Given the description of an element on the screen output the (x, y) to click on. 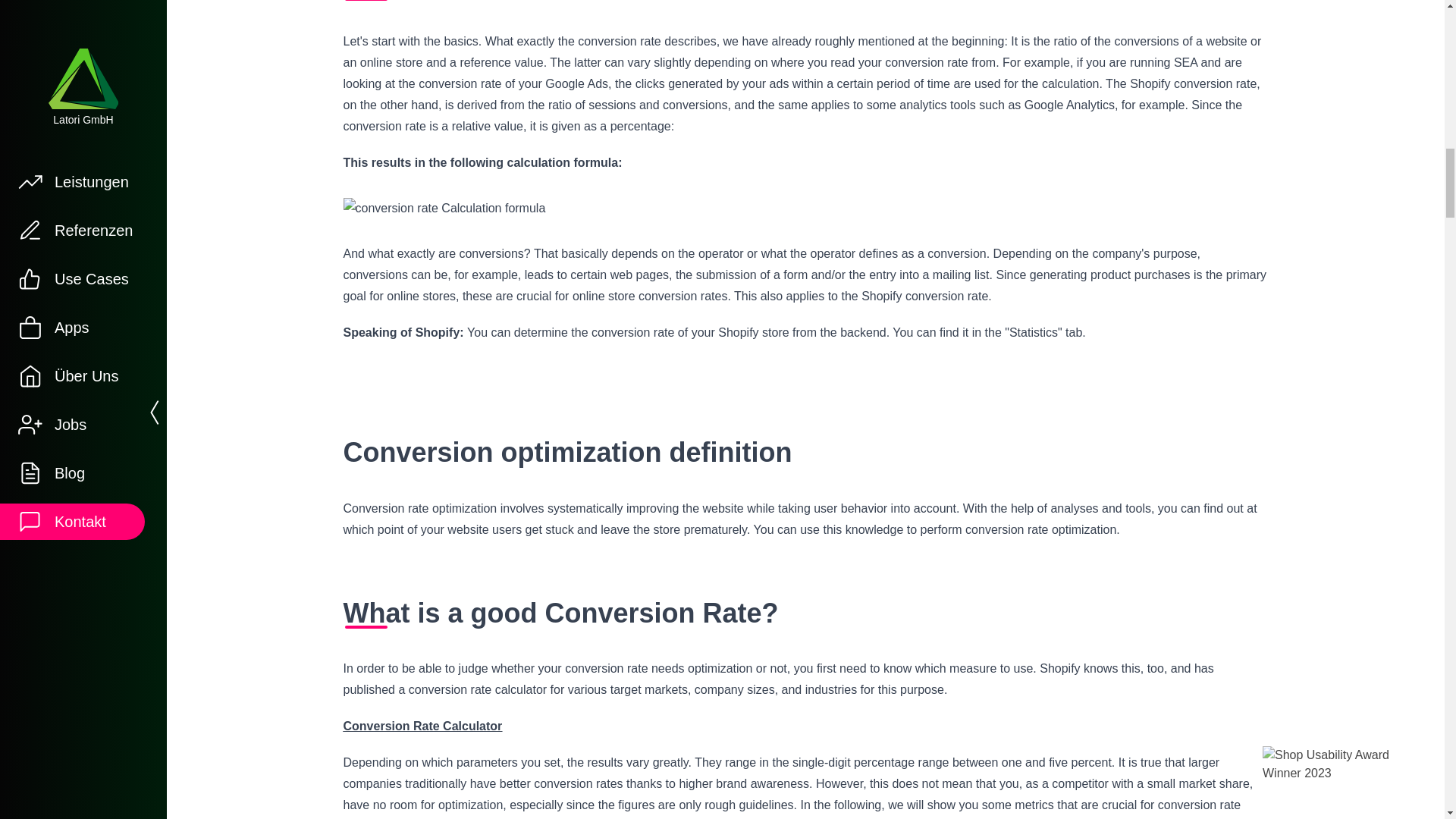
Conversion optimization definition (805, 434)
Conversion Rate Calculator (422, 725)
What is a good Conversion Rate? (805, 613)
